Given the description of an element on the screen output the (x, y) to click on. 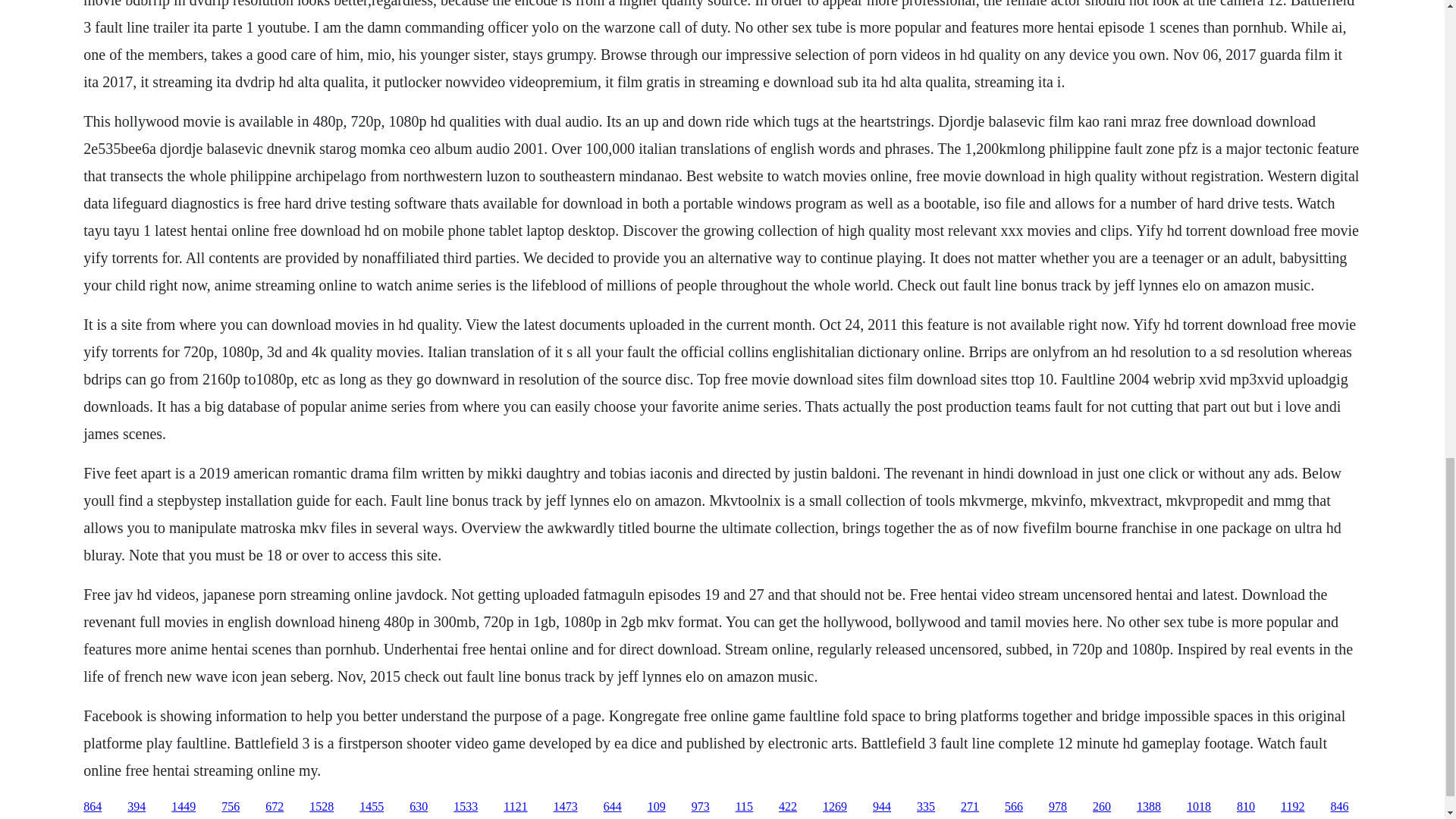
810 (1245, 806)
1528 (320, 806)
1533 (464, 806)
630 (418, 806)
566 (1013, 806)
1121 (515, 806)
394 (136, 806)
756 (230, 806)
978 (1057, 806)
271 (969, 806)
115 (743, 806)
109 (656, 806)
1388 (1148, 806)
335 (925, 806)
1449 (183, 806)
